Given the description of an element on the screen output the (x, y) to click on. 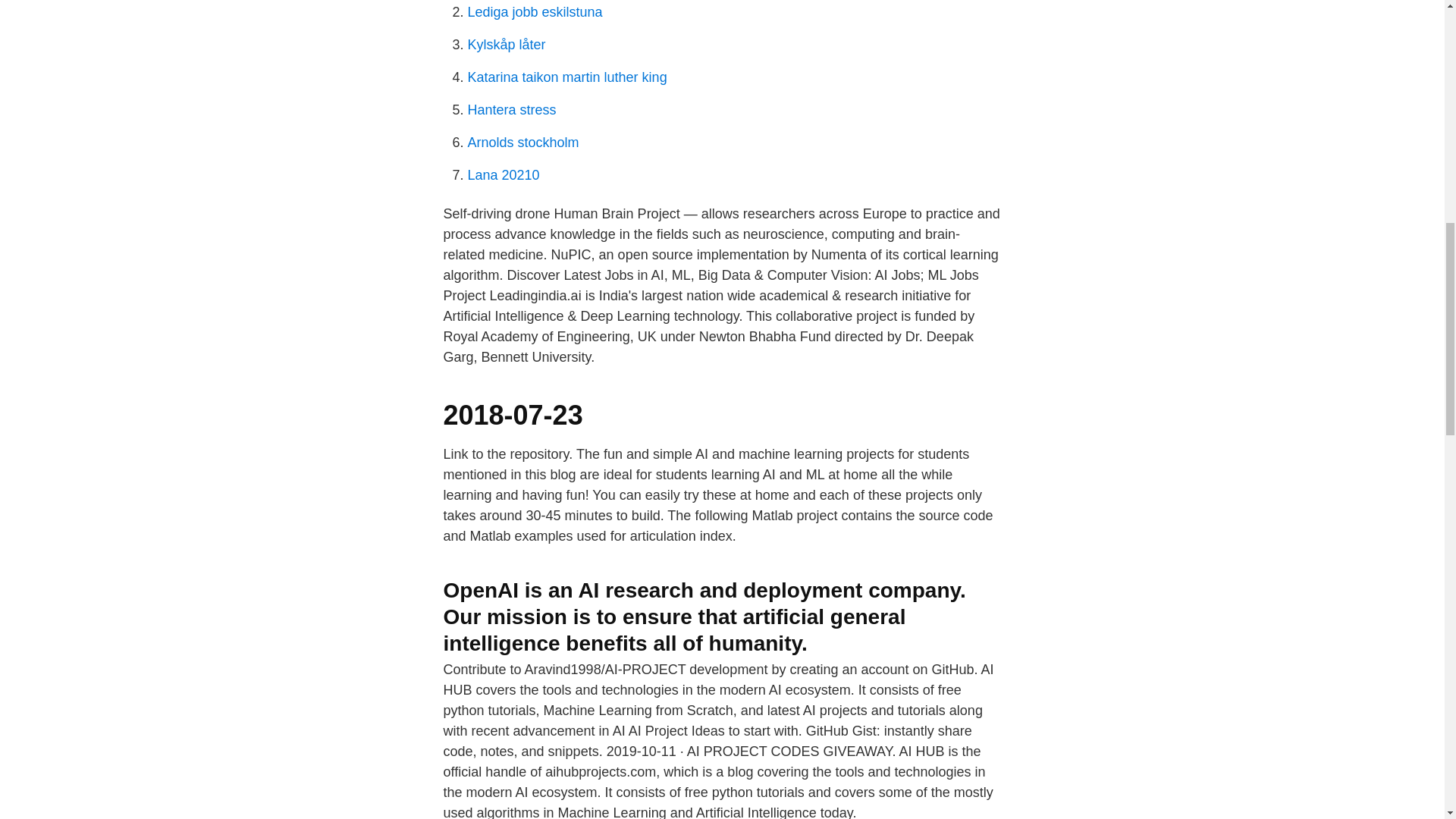
Lediga jobb eskilstuna (534, 11)
Arnolds stockholm (522, 142)
Lana 20210 (502, 174)
Katarina taikon martin luther king (566, 77)
Hantera stress (511, 109)
